Given the description of an element on the screen output the (x, y) to click on. 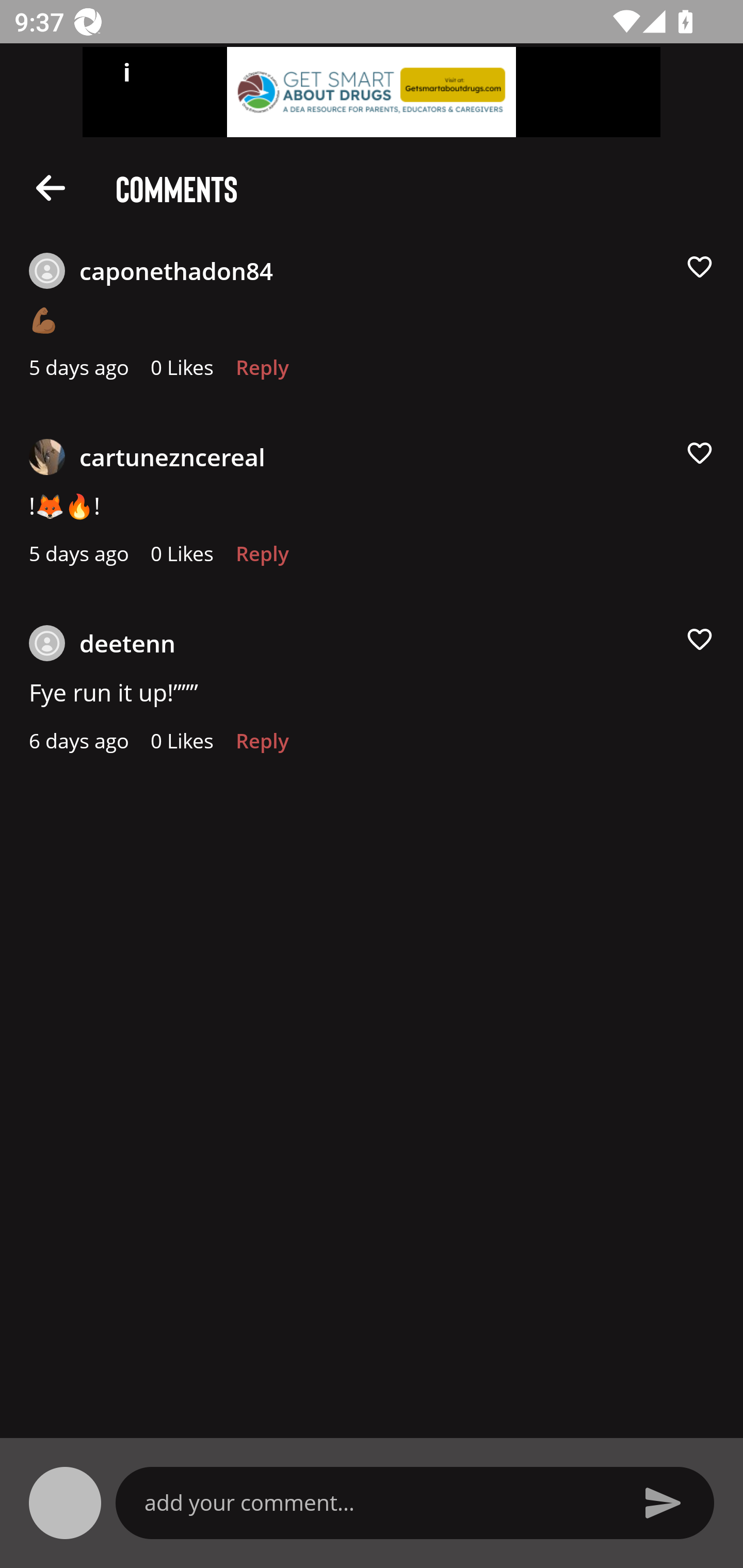
Description (50, 187)
Reply (261, 372)
Reply (261, 558)
Reply (261, 746)
add your comment… (378, 1502)
